Given the description of an element on the screen output the (x, y) to click on. 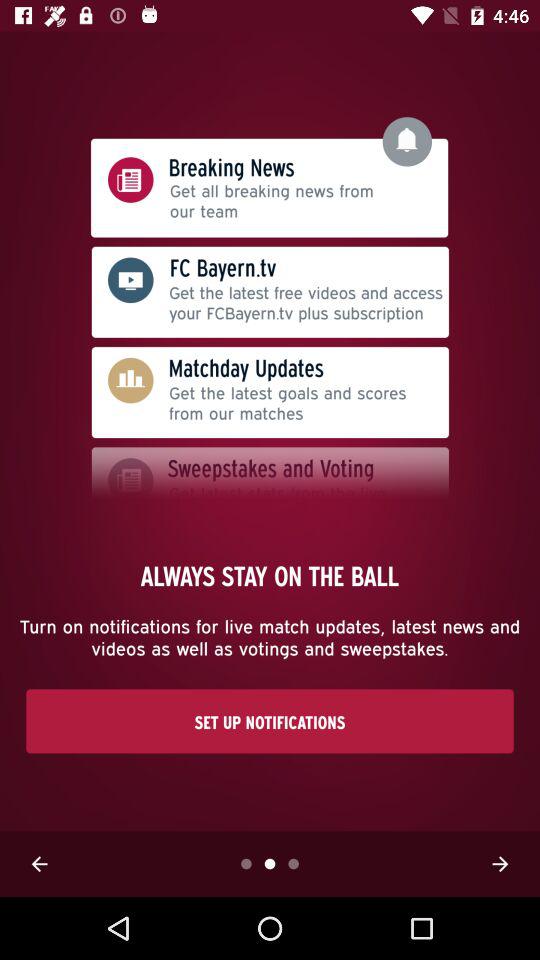
toggle to the next page (500, 864)
